Given the description of an element on the screen output the (x, y) to click on. 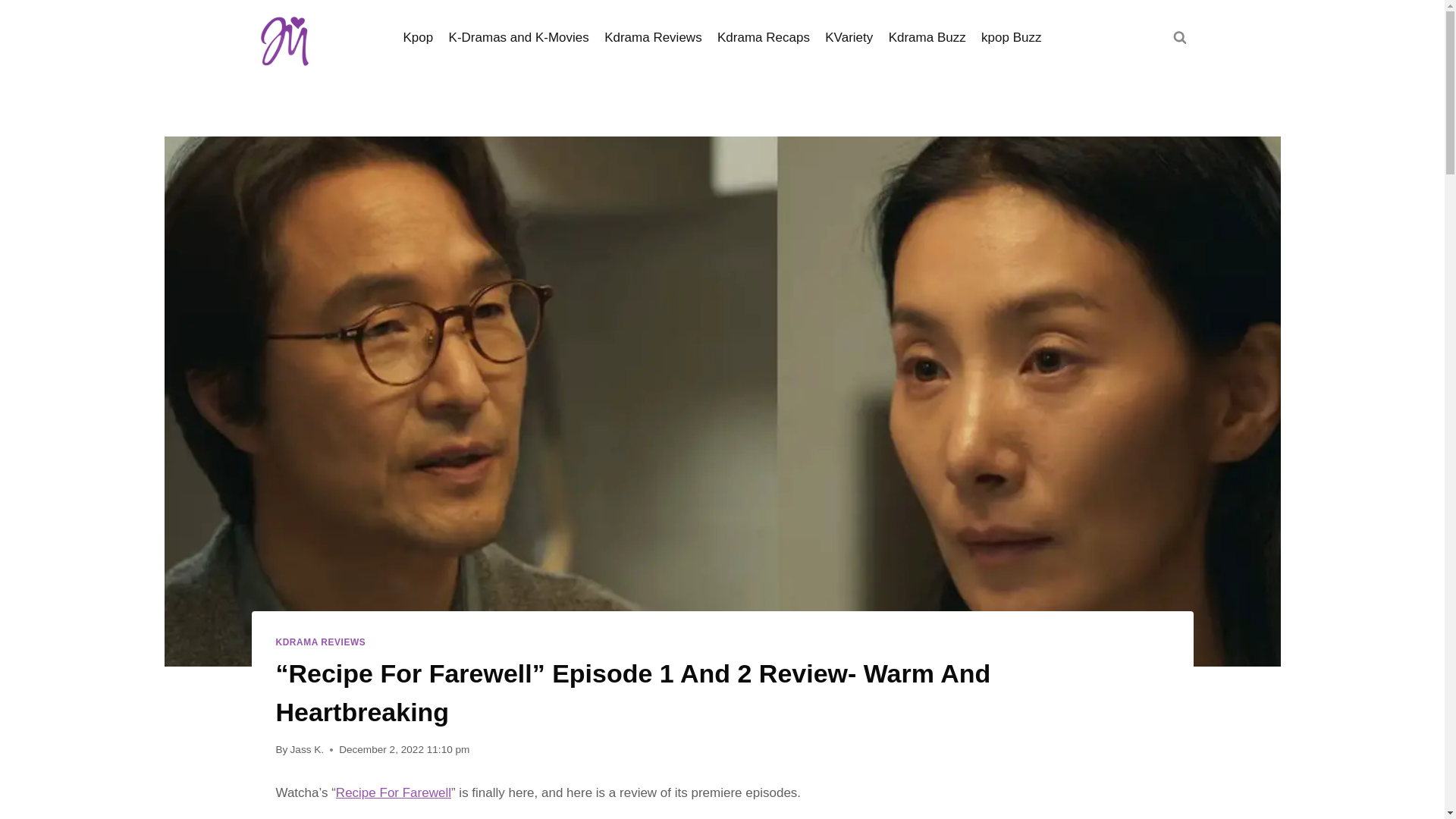
Jass K. (306, 749)
K-Dramas and K-Movies (518, 37)
Kpop (417, 37)
KDRAMA REVIEWS (321, 642)
kpop Buzz (1011, 37)
Kdrama Reviews (653, 37)
Kdrama Buzz (926, 37)
Recipe For Farewell (393, 792)
Kdrama Recaps (763, 37)
